Given the description of an element on the screen output the (x, y) to click on. 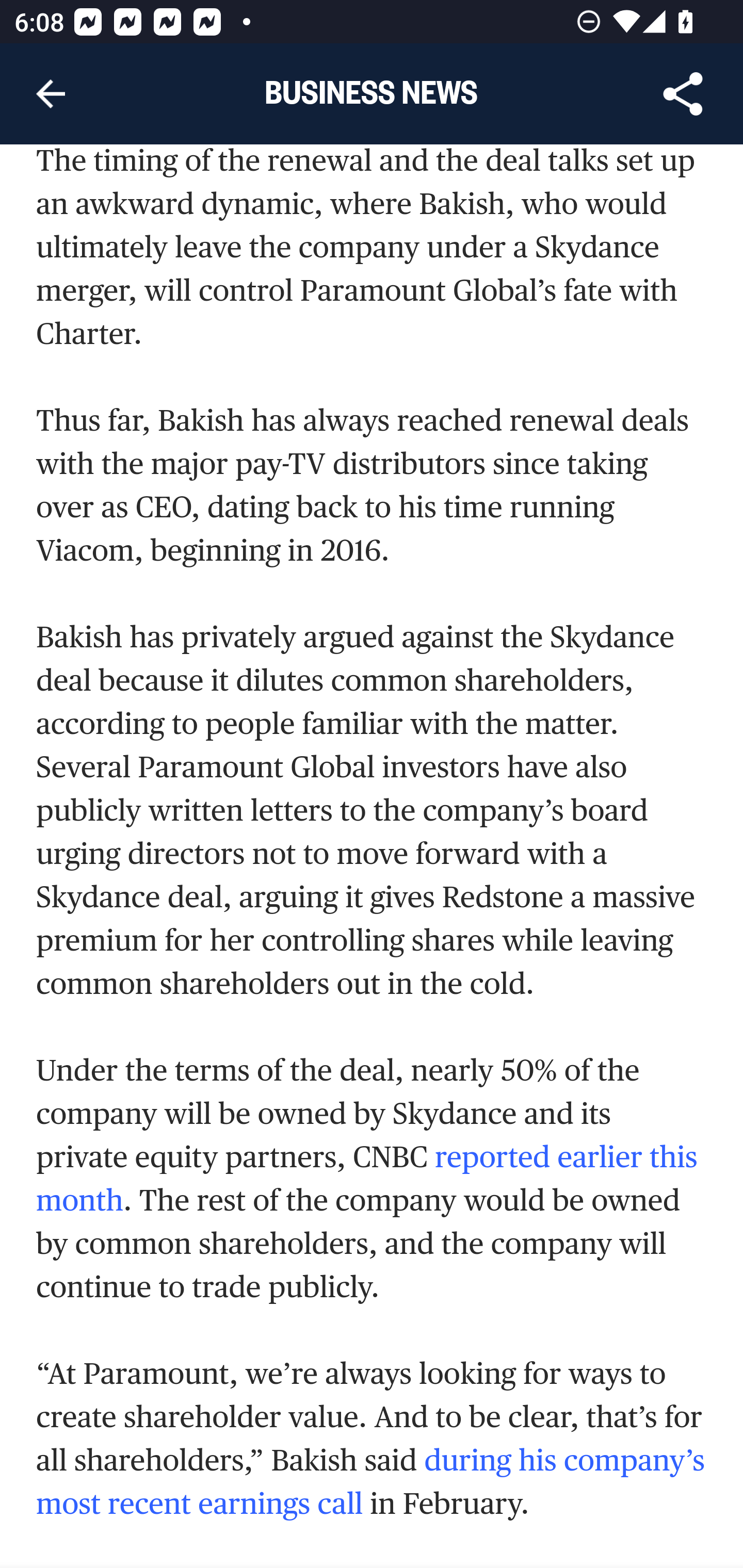
Navigate up (50, 93)
Share Article, button (683, 94)
reported earlier this month (367, 1178)
during his company’s most recent earnings call  (370, 1481)
